Given the description of an element on the screen output the (x, y) to click on. 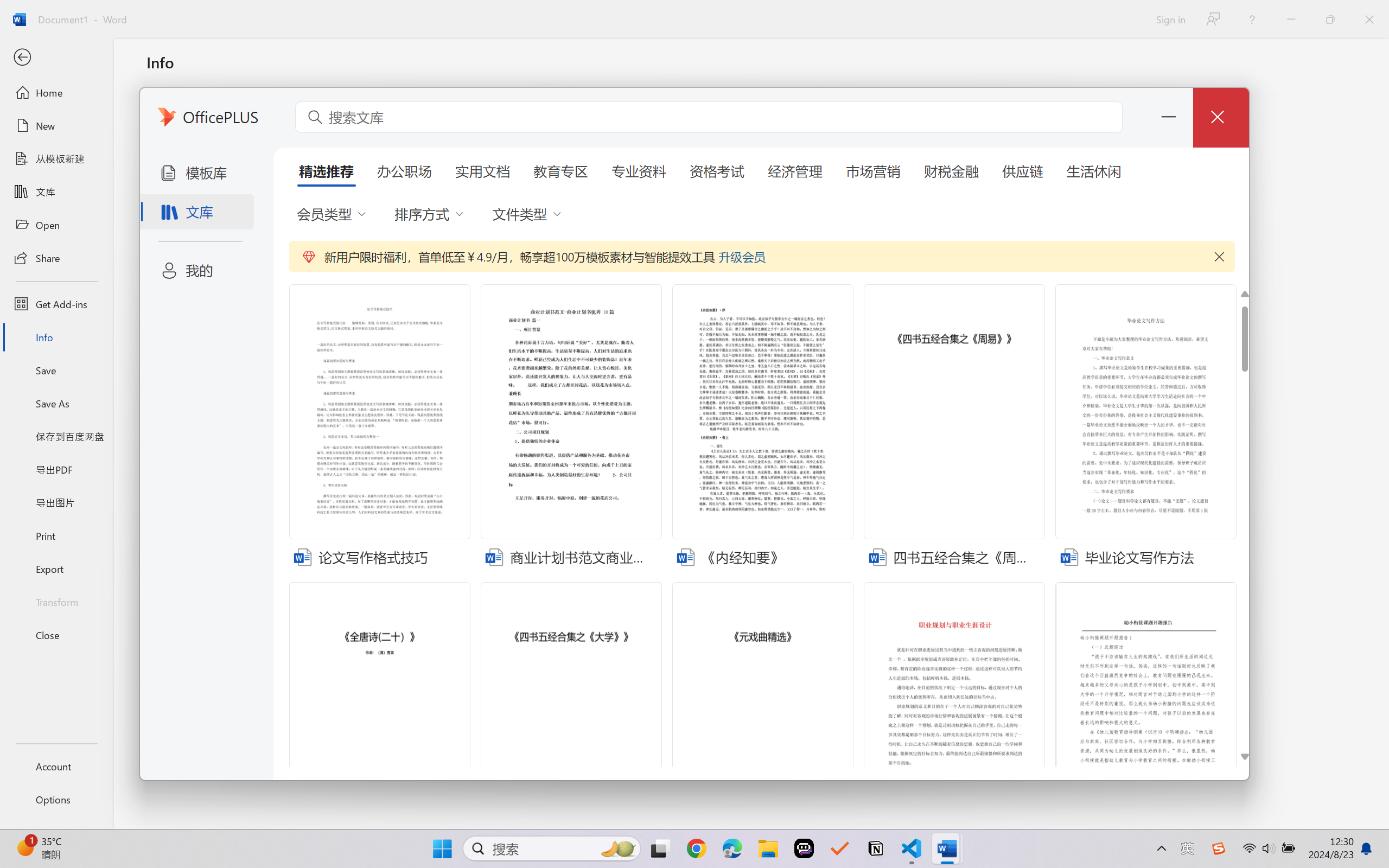
Account (56, 765)
Options (56, 798)
